Given the description of an element on the screen output the (x, y) to click on. 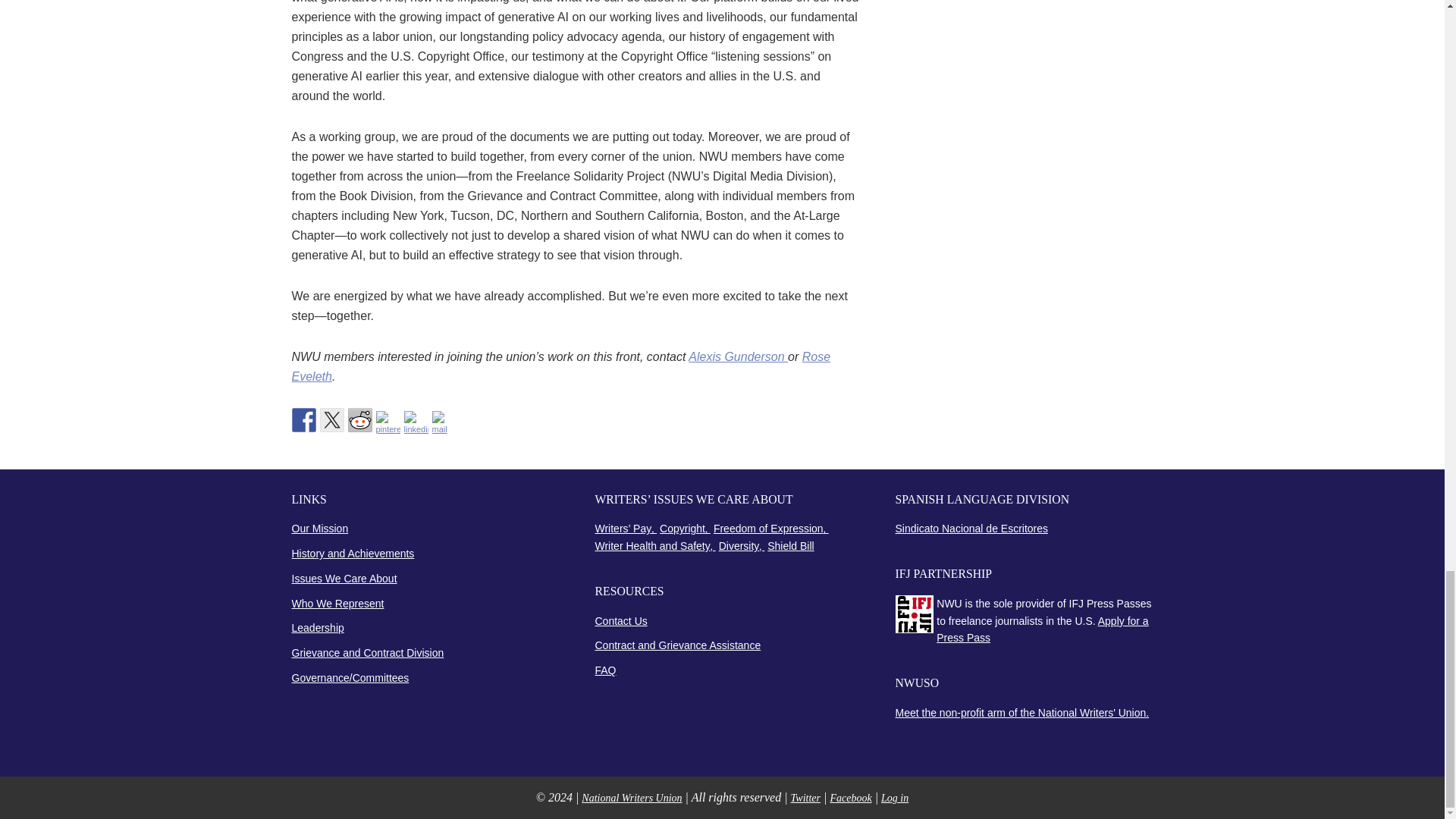
Pin it with Pinterest (387, 422)
Share on Facebook (303, 419)
Share on Reddit (359, 419)
Pin it with Pinterest (387, 423)
Share on Linkedin (415, 423)
Share on Twitter (331, 419)
Share by email (444, 422)
Share on Linkedin (415, 422)
